Given the description of an element on the screen output the (x, y) to click on. 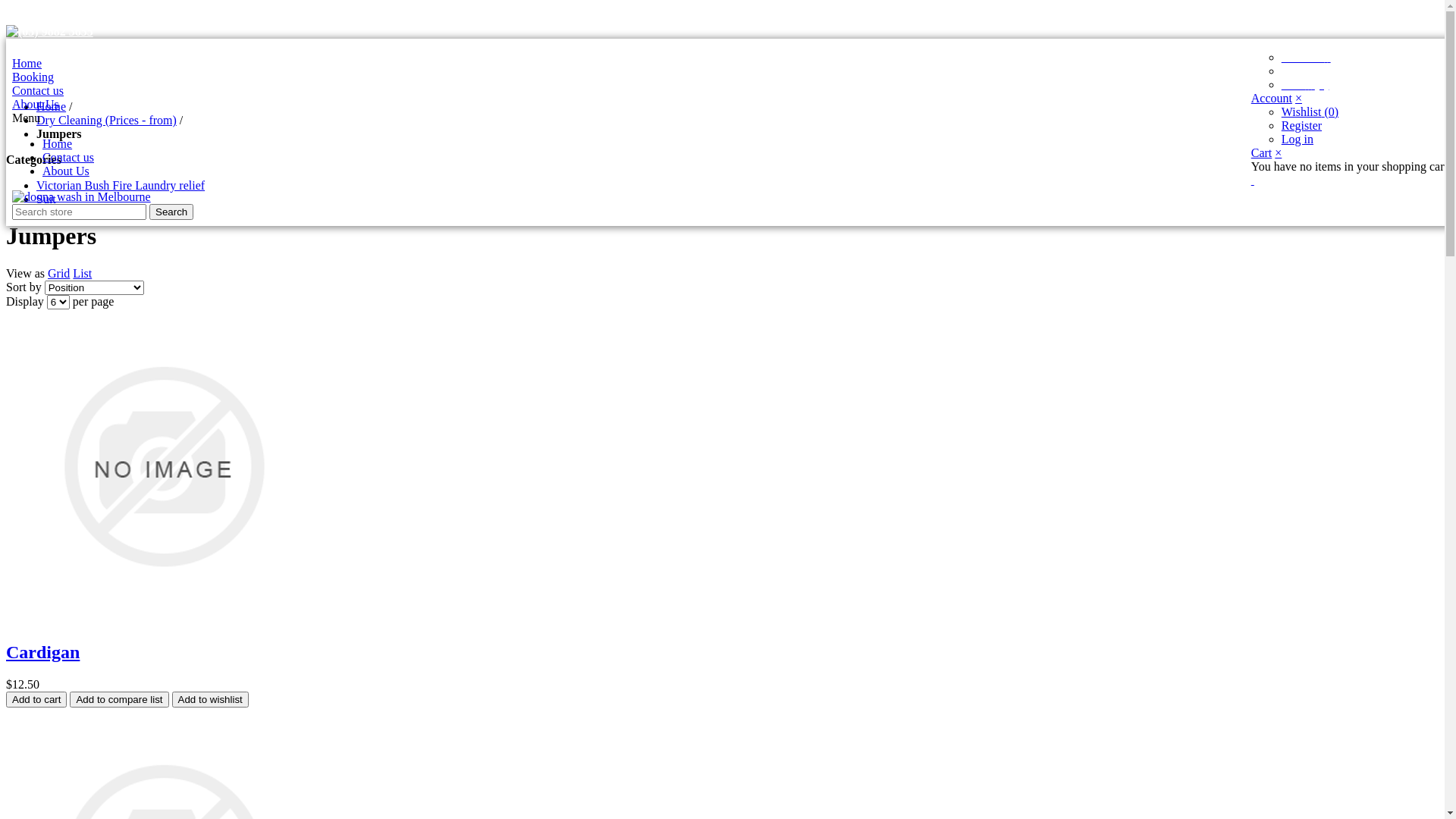
Account   Element type: text (1305, 56)
Home Element type: text (57, 143)
Cart Element type: text (1261, 152)
Log in Element type: text (1297, 138)
Add to cart Element type: hover (36, 699)
Add to compare list Element type: hover (118, 699)
Dry Cleaning (Prices - from) Element type: text (106, 119)
Home Element type: text (26, 62)
Cardigan Element type: text (42, 652)
Account Element type: text (1271, 97)
List Element type: text (81, 272)
About Us Element type: text (65, 170)
Show details for Cardigan Element type: hover (163, 619)
Show details for Cardigan Element type: hover (163, 466)
Close Element type: hover (7, 12)
  Element type: text (1252, 179)
Add to cart Element type: text (36, 699)
Add to wishlist Element type: text (210, 699)
Booking Element type: text (32, 76)
Home Element type: text (50, 106)
Add to wishlist Element type: hover (210, 699)
Victorian Bush Fire Laundry relief Element type: text (120, 184)
Grid Element type: text (58, 272)
(03) 9882 3655 Element type: text (728, 31)
Contact us Element type: text (37, 90)
Add to compare list Element type: text (118, 699)
Register Element type: text (1301, 125)
Contact us Element type: text (68, 156)
Suit Element type: text (46, 198)
Search Element type: text (171, 211)
Wishlist (0) Element type: text (1309, 111)
Cart   (0) Element type: text (1305, 84)
About Us Element type: text (35, 103)
